Given the description of an element on the screen output the (x, y) to click on. 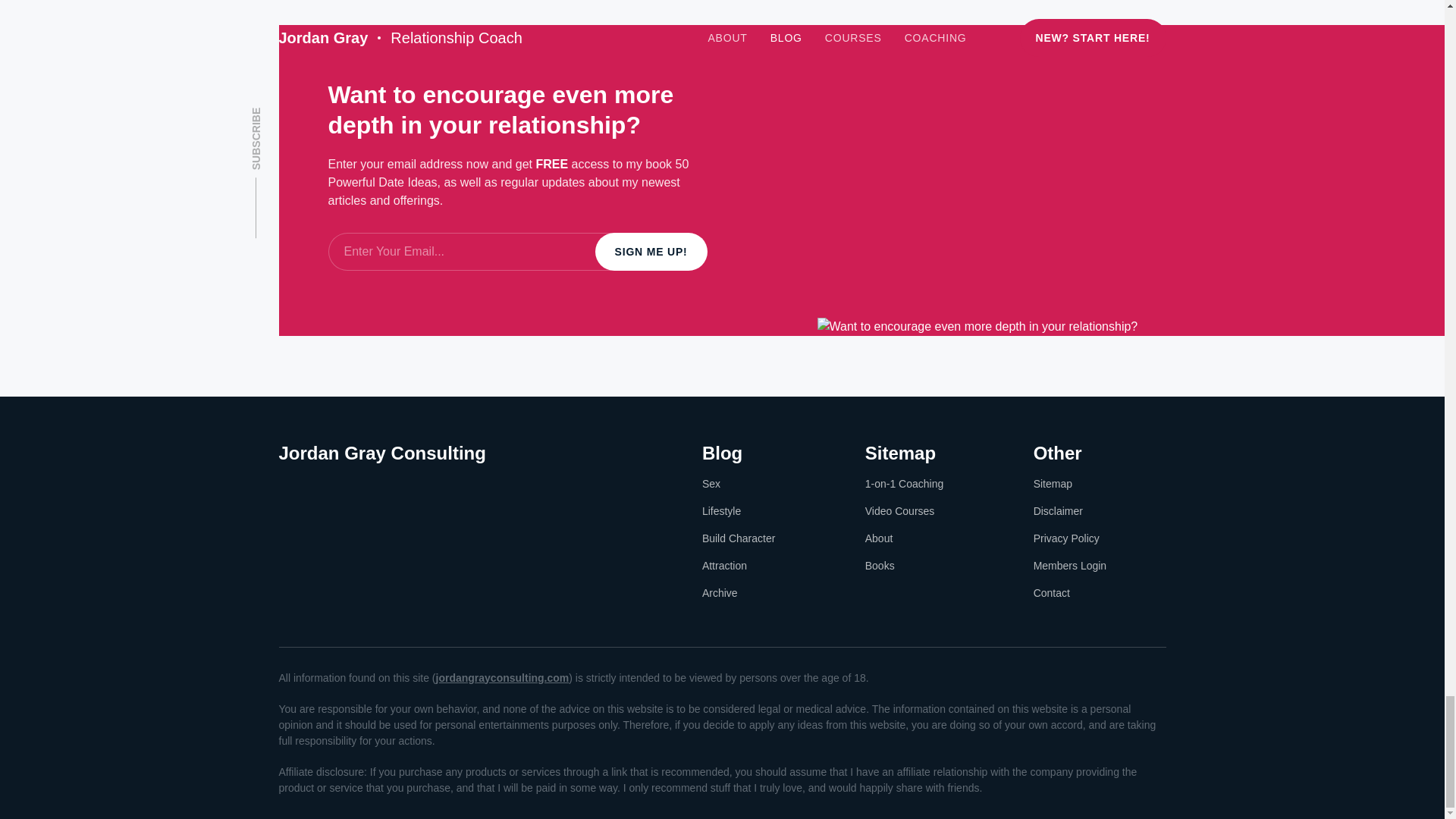
Facebook (288, 484)
Instagram (324, 484)
Sign Me Up! (651, 251)
